Given the description of an element on the screen output the (x, y) to click on. 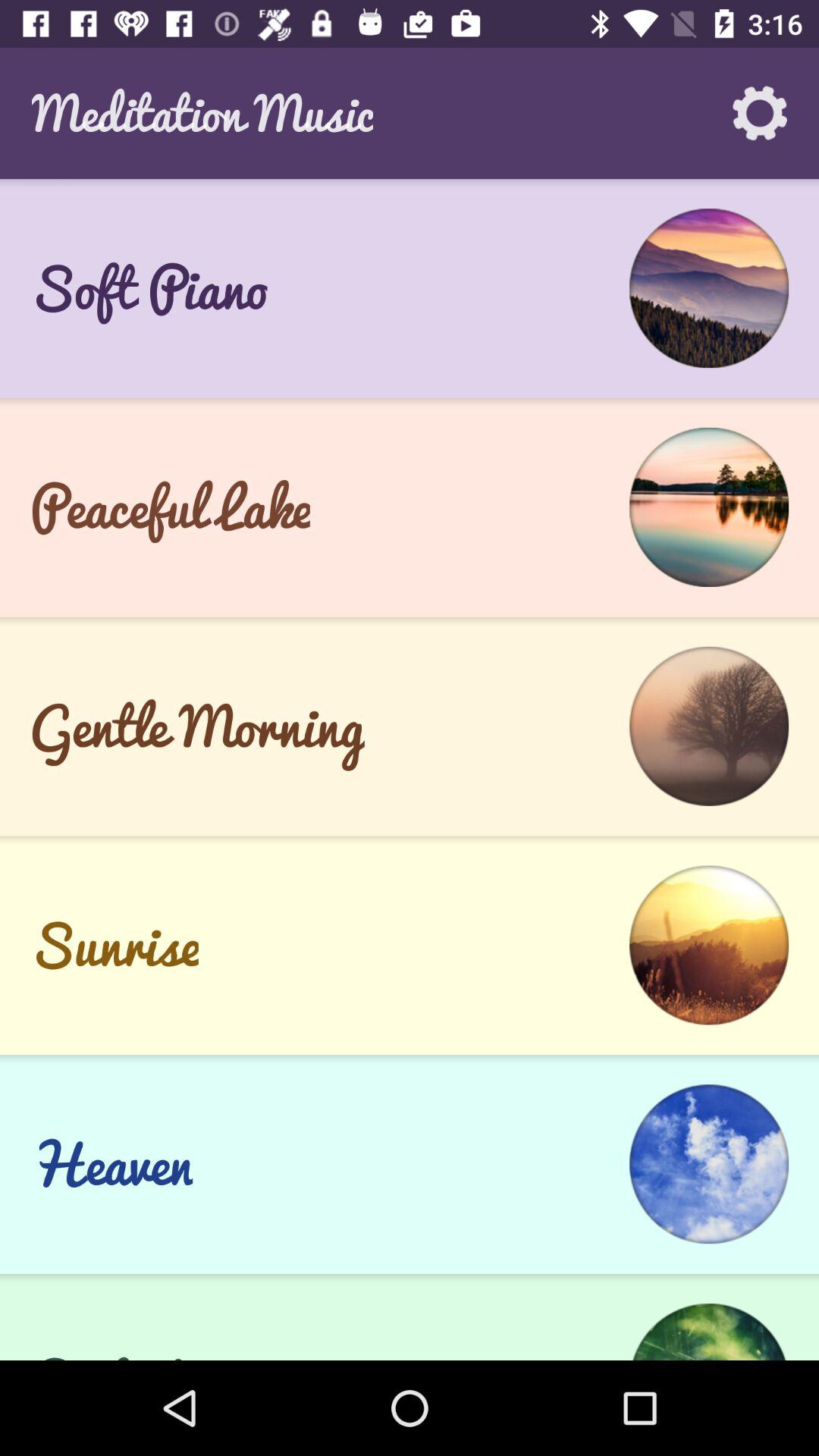
scroll to peaceful lake app (169, 507)
